Given the description of an element on the screen output the (x, y) to click on. 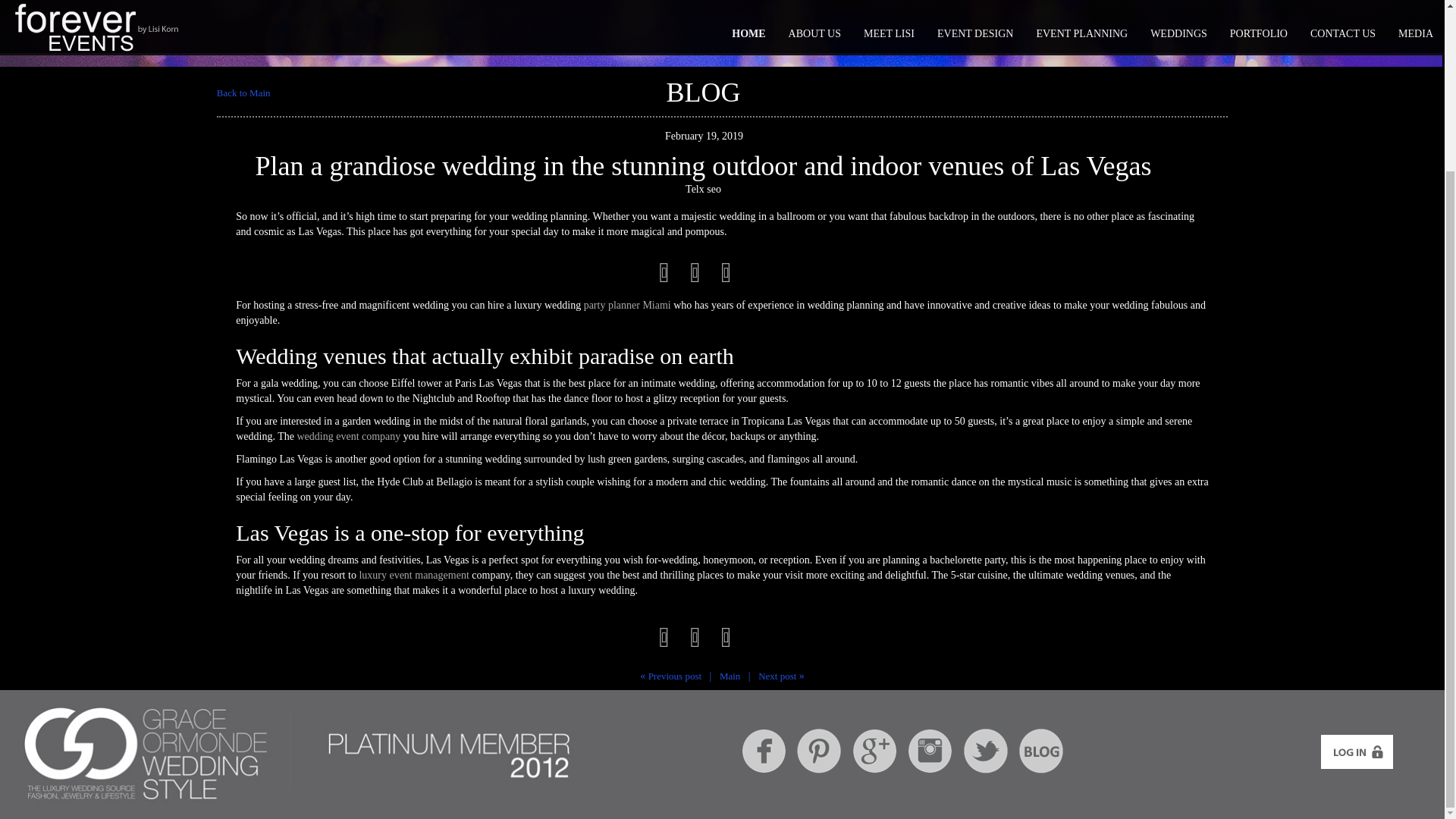
Next post (777, 675)
wedding event company (348, 436)
Back to Main (243, 92)
Previous post (674, 675)
Main (729, 675)
party planner Miami (627, 305)
luxury event management (413, 574)
